Given the description of an element on the screen output the (x, y) to click on. 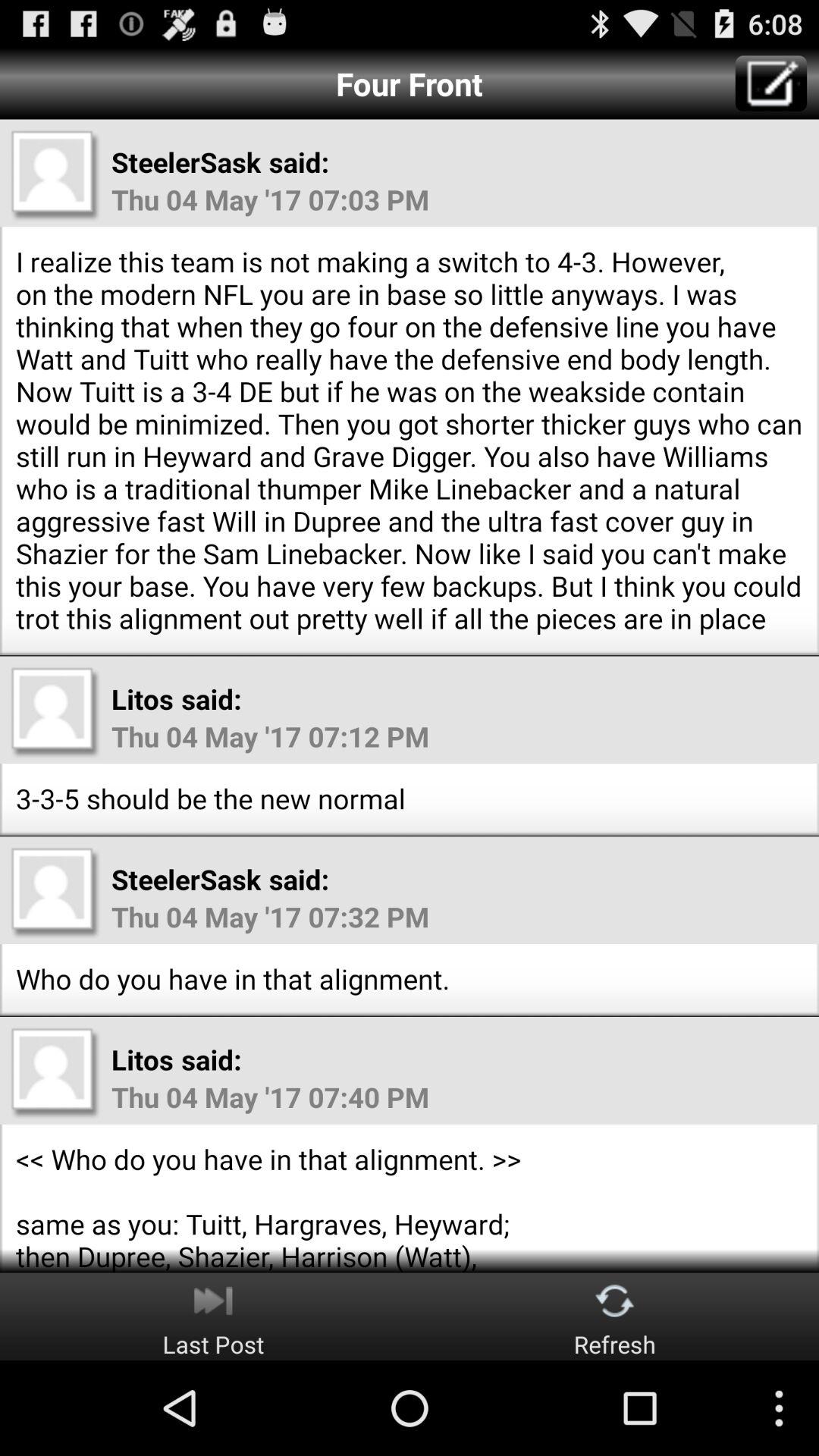
launch i realize this (409, 439)
